Given the description of an element on the screen output the (x, y) to click on. 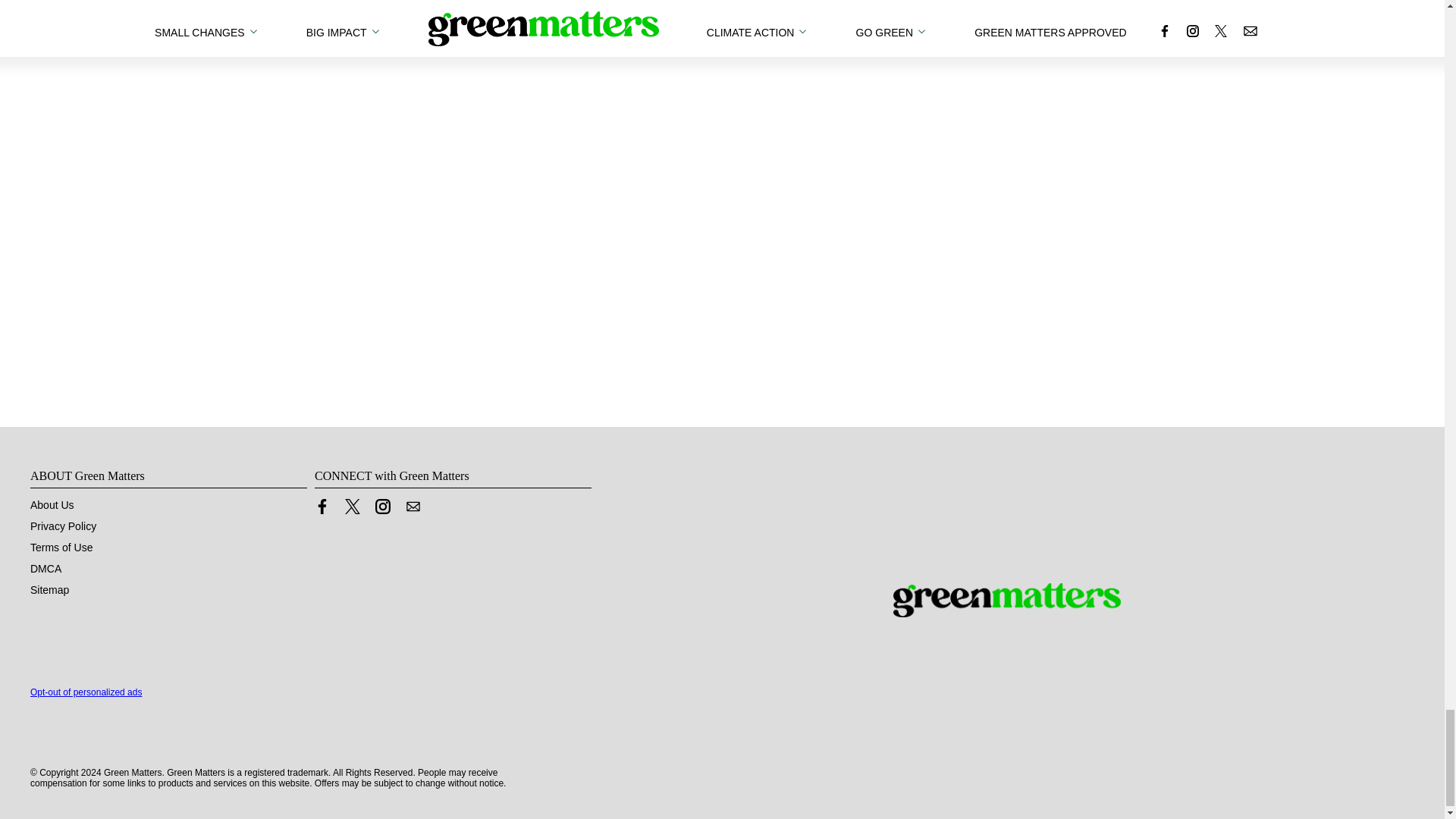
DMCA (45, 568)
Link to Facebook (322, 506)
Contact us by Email (413, 506)
Privacy Policy (63, 526)
Terms of Use (61, 547)
Sitemap (49, 589)
About Us (52, 504)
Link to X (352, 506)
Link to Instagram (382, 506)
